Given the description of an element on the screen output the (x, y) to click on. 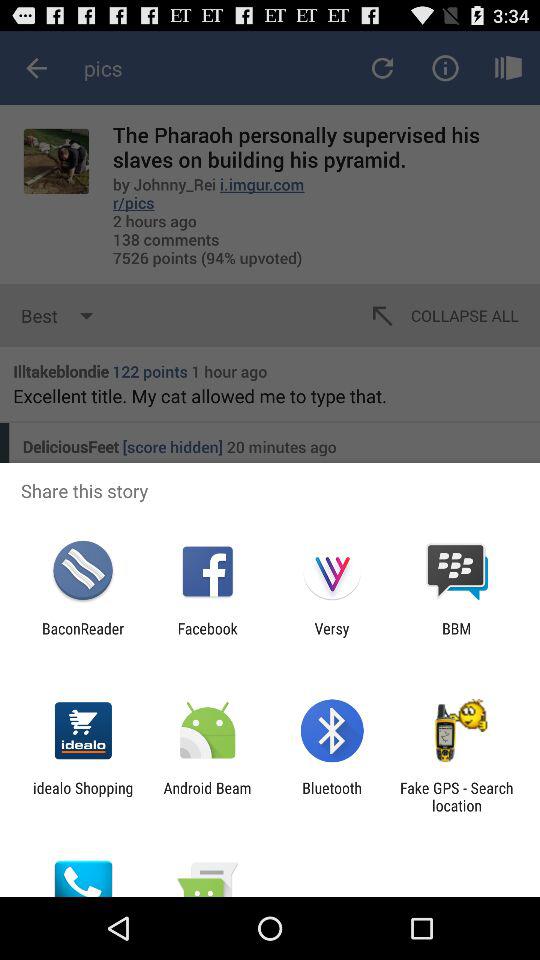
turn off app next to the bluetooth (456, 796)
